Given the description of an element on the screen output the (x, y) to click on. 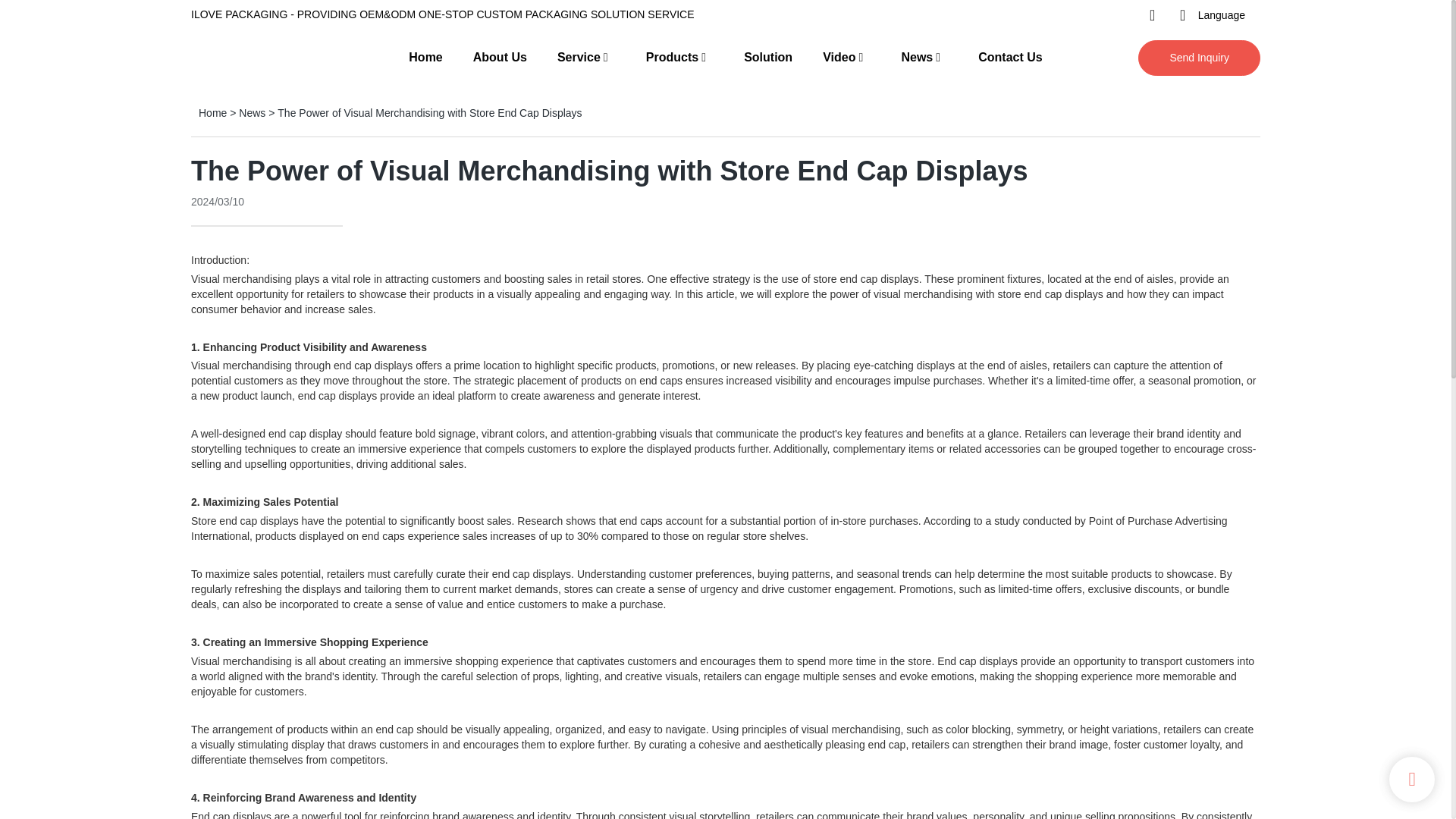
News (251, 112)
Products (672, 57)
Solution (768, 57)
About Us (500, 57)
Contact Us (1010, 57)
Home (212, 112)
